Given the description of an element on the screen output the (x, y) to click on. 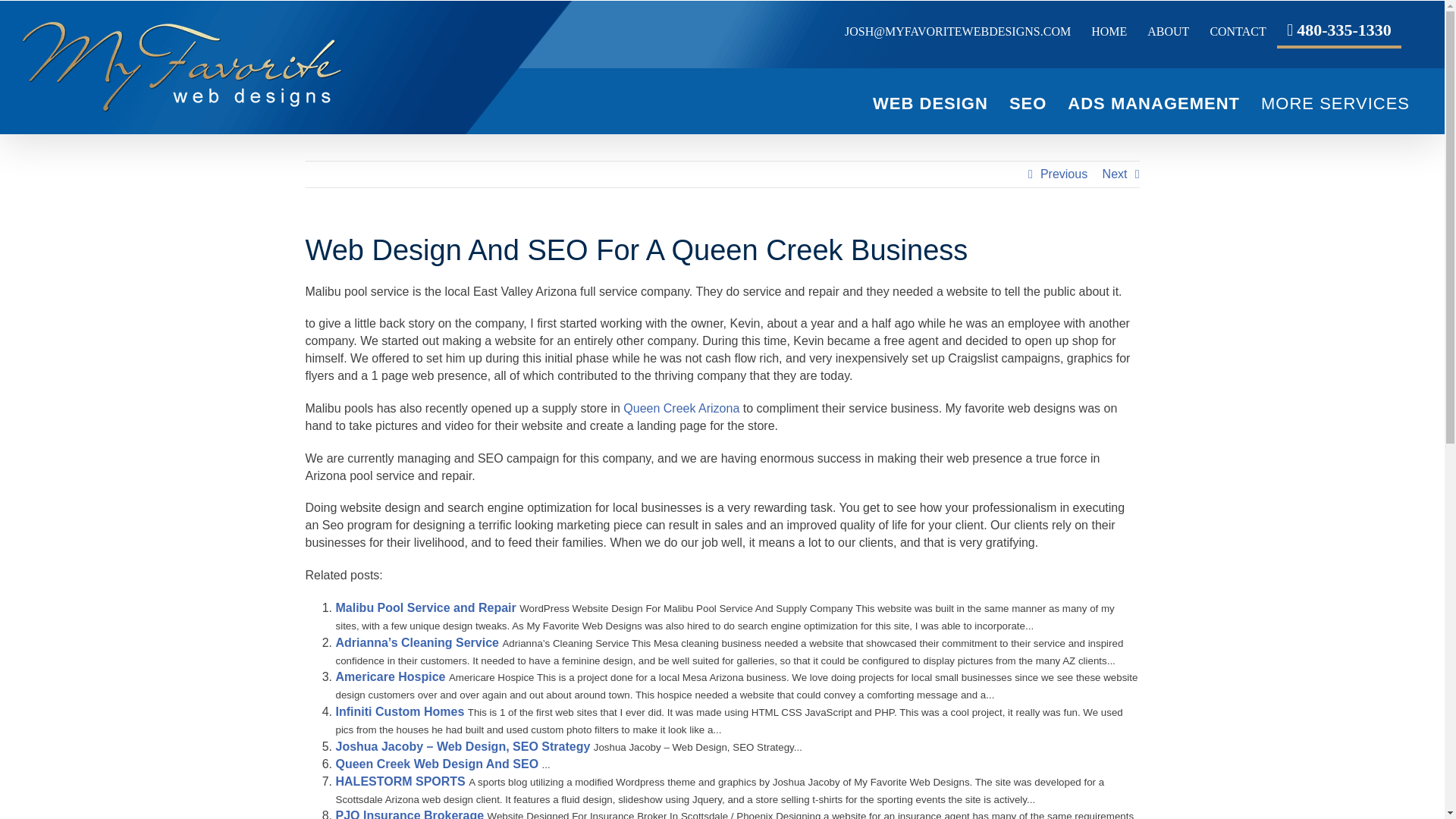
Americare Hospice (389, 676)
HALESTORM SPORTS (399, 780)
Queen Creek Web Design And SEO (436, 763)
Mesa Arizona Website Design (930, 103)
HALESTORM SPORTS (399, 780)
WEB DESIGN (930, 103)
ABOUT (1167, 31)
SEO (1027, 103)
Malibu Pool Service and Repair (424, 607)
480-335-1330 (1338, 31)
Infiniti Custom Homes (399, 711)
Queen Creek Arizona (681, 408)
web design and seo in Queen Creek AZ (681, 408)
Malibu Pool Service and Repair (424, 607)
